Given the description of an element on the screen output the (x, y) to click on. 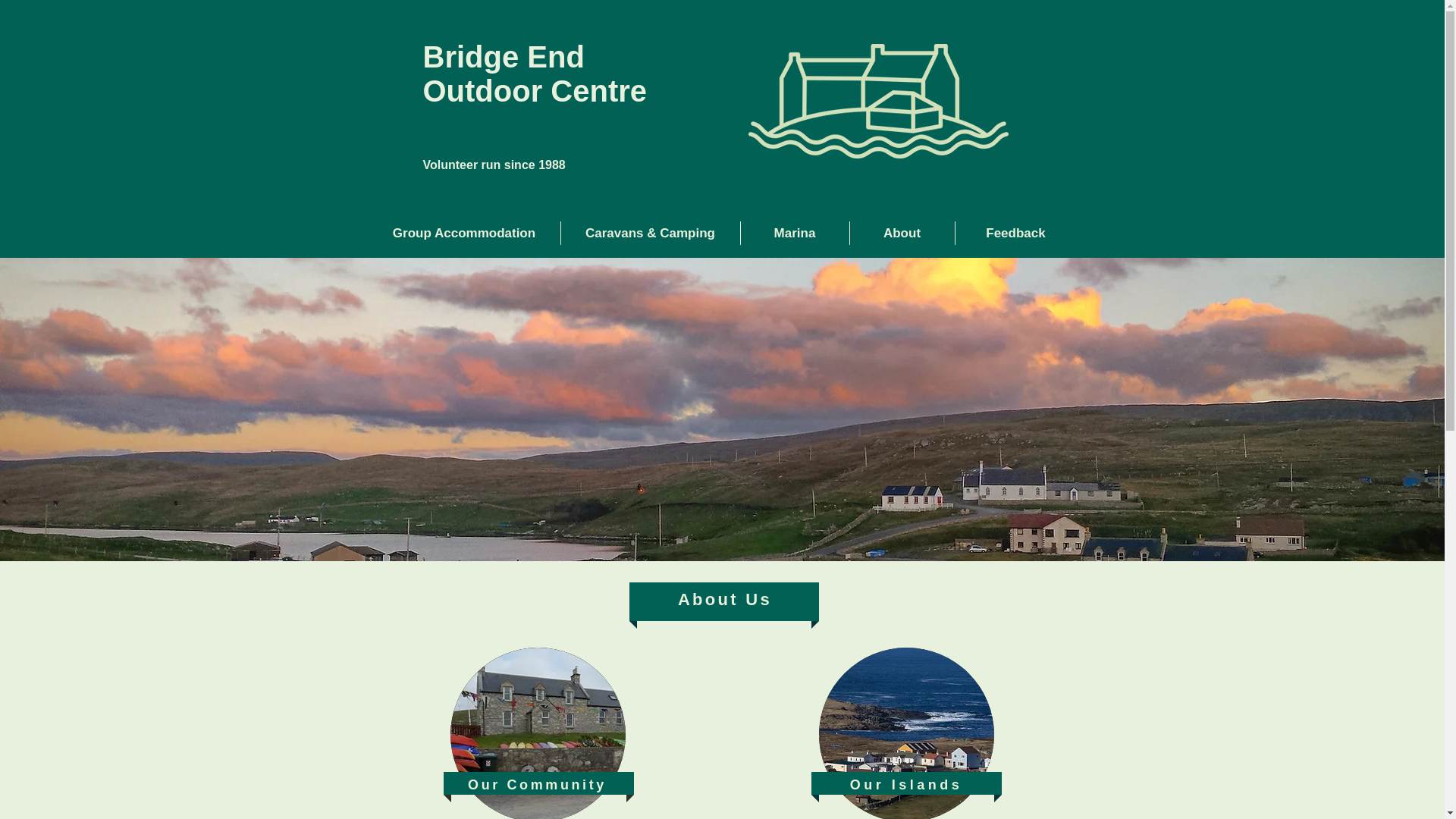
Marina (535, 73)
Group Accommodation (793, 232)
Feedback (464, 232)
About (1016, 232)
